Given the description of an element on the screen output the (x, y) to click on. 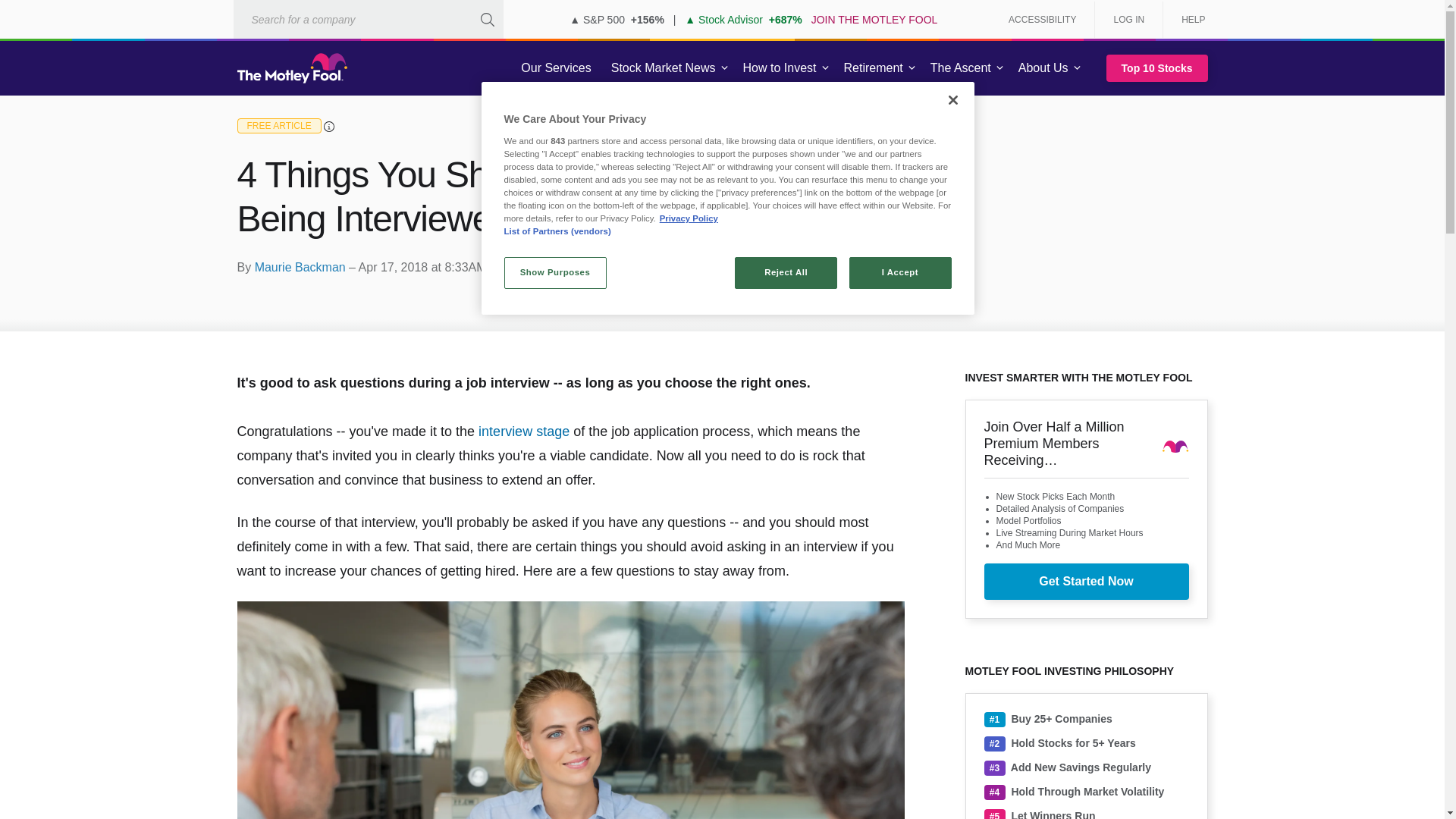
Stock Market News (662, 67)
LOG IN (1128, 19)
HELP (1187, 19)
ACCESSIBILITY (1042, 19)
Our Services (555, 67)
How to Invest (779, 67)
